Given the description of an element on the screen output the (x, y) to click on. 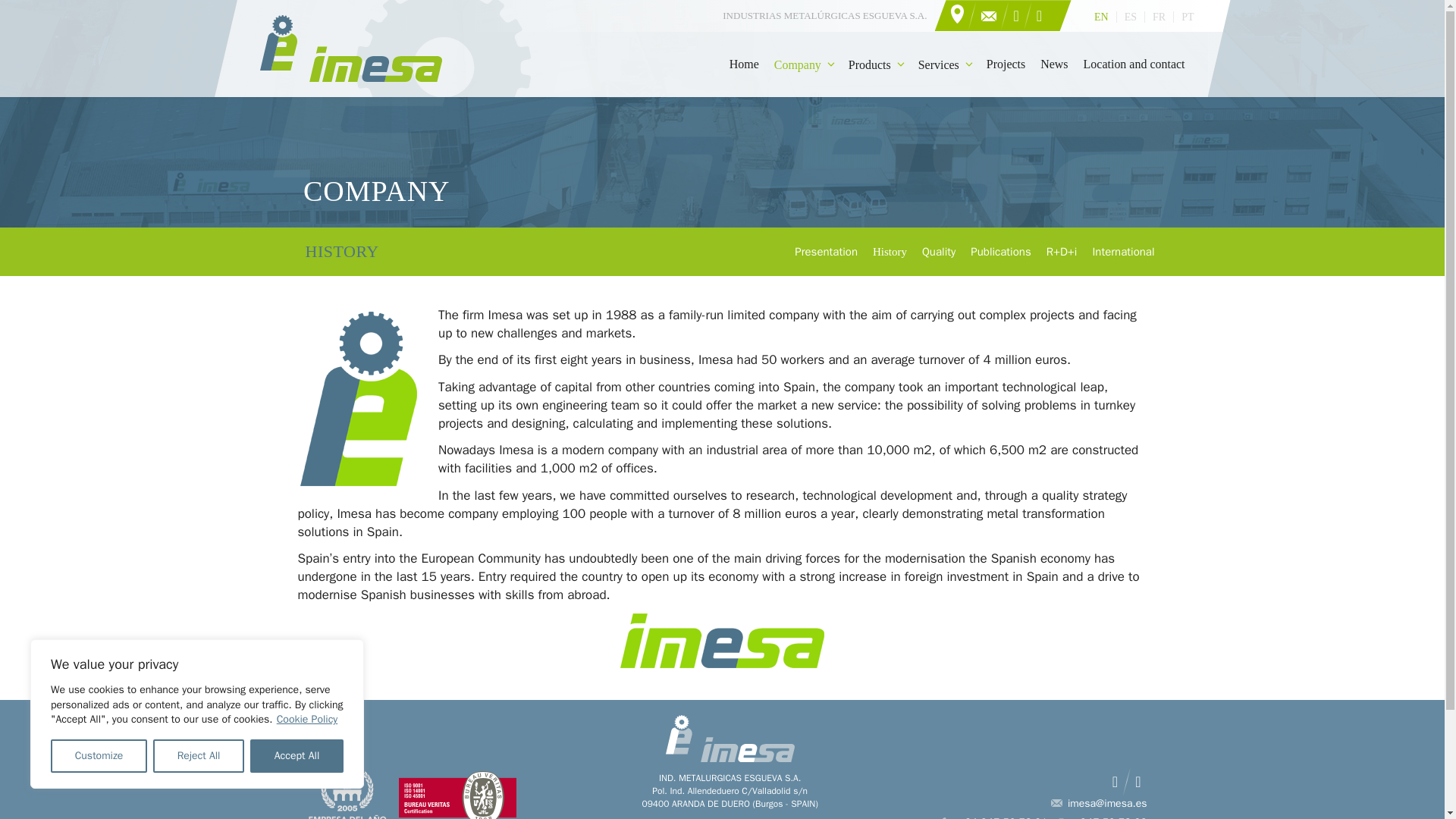
Products (876, 64)
FR (1158, 16)
PT (1187, 16)
Services (944, 64)
Cookie Policy (307, 718)
Home (744, 64)
Company (804, 64)
Reject All (198, 756)
Accept All (296, 756)
ES (1130, 16)
Customize (98, 756)
EN (1101, 16)
